Given the description of an element on the screen output the (x, y) to click on. 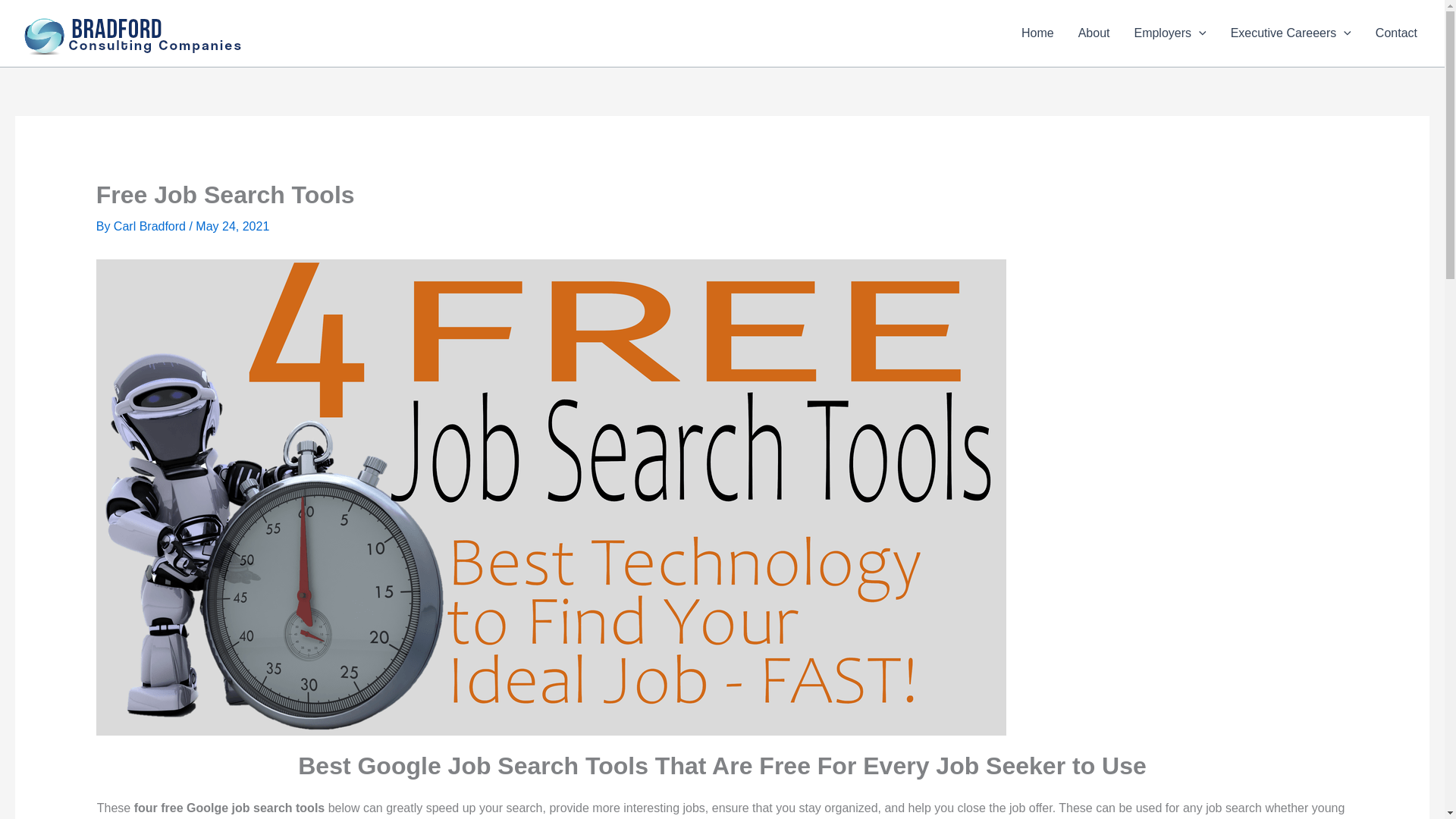
About Carl Bradford (1093, 33)
View all posts by Carl Bradford (151, 226)
Contact Carl Bradford (1395, 33)
Executive Careeers (1290, 33)
Employers (1169, 33)
Carl Bradford (151, 226)
Contact (1395, 33)
Home (1037, 33)
About (1093, 33)
Home Page (1037, 33)
